Given the description of an element on the screen output the (x, y) to click on. 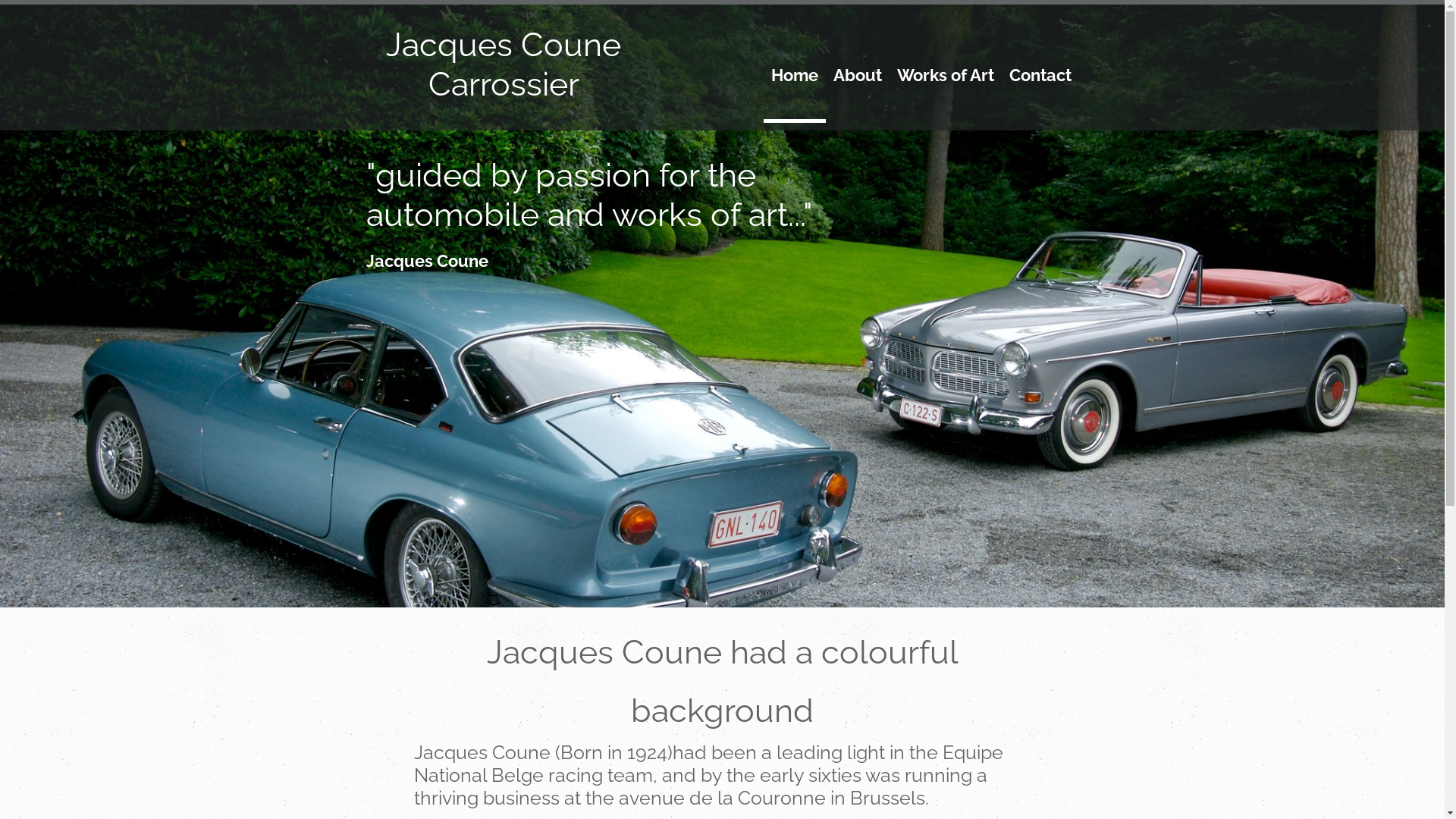
Works of Art Element type: text (944, 89)
Carrossier Element type: text (502, 84)
Home Element type: text (793, 89)
Jacques Coune Element type: text (503, 44)
Contact Element type: text (1039, 89)
About Element type: text (856, 89)
Home
About
Works of Art
Contact
Jacques Coune
Carrossier Element type: text (721, 65)
